Given the description of an element on the screen output the (x, y) to click on. 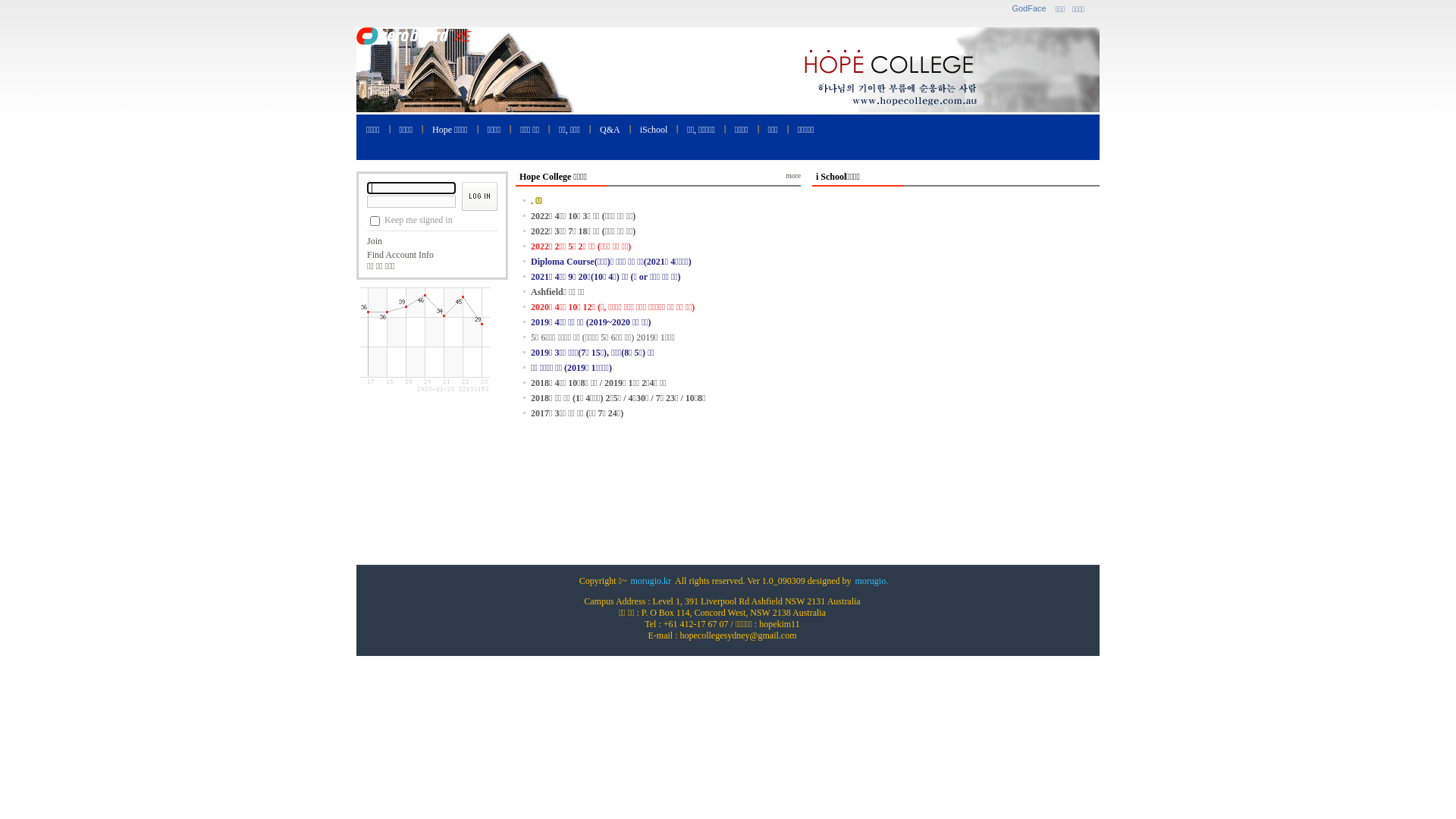
. Element type: text (531, 200)
Join Element type: text (374, 240)
more Element type: text (792, 175)
GodFace Element type: text (1028, 7)
password Element type: hover (411, 201)
update Element type: hover (538, 200)
user id Element type: hover (411, 188)
Y Element type: text (374, 220)
iSchool Element type: text (653, 128)
Q&A Element type: text (609, 128)
morugio.kr Element type: text (650, 580)
morugio. Element type: text (870, 580)
Find Account Info Element type: text (400, 254)
